Given the description of an element on the screen output the (x, y) to click on. 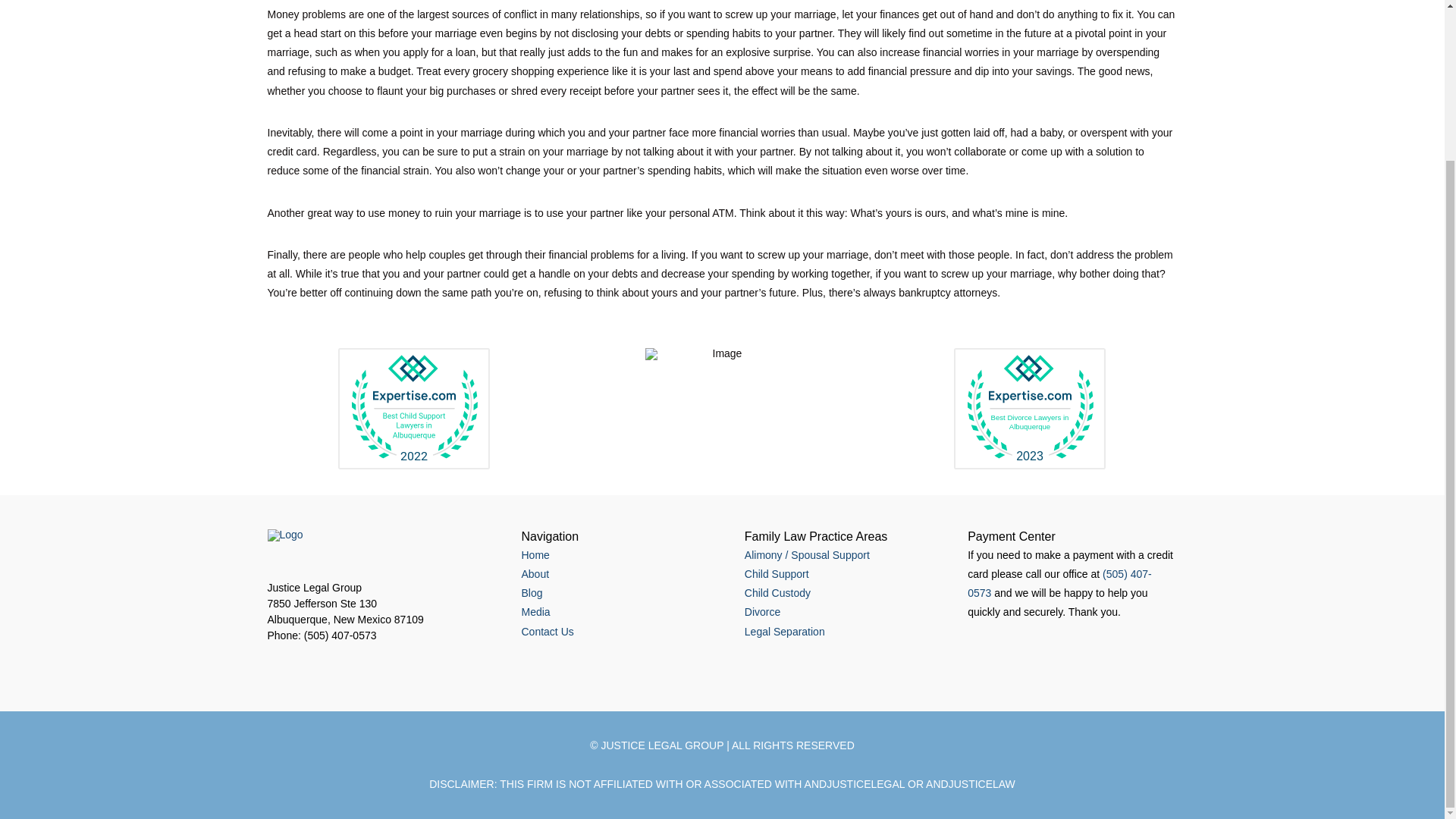
Child Support Lawyer Albuquerque (776, 573)
Blog (532, 592)
About (535, 573)
Albuquerque Marriage Lawyer (784, 631)
Albuquerque Alimony Attorney (806, 554)
Home (535, 554)
Divorce Lawyer Albuquerque (762, 612)
Legal Separation (784, 631)
Media (535, 612)
Contact Us (547, 631)
